Given the description of an element on the screen output the (x, y) to click on. 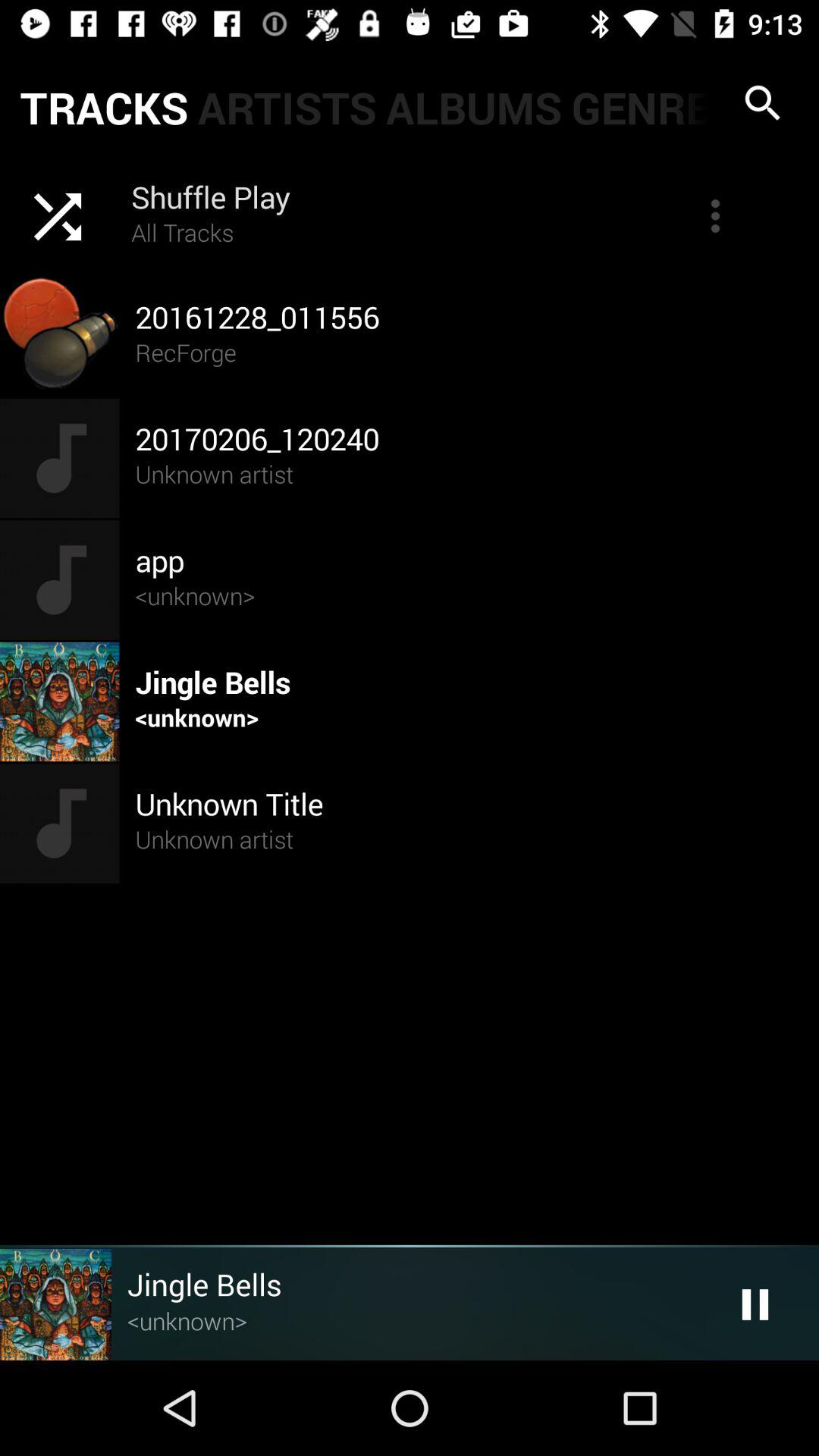
click to search option (763, 103)
